Given the description of an element on the screen output the (x, y) to click on. 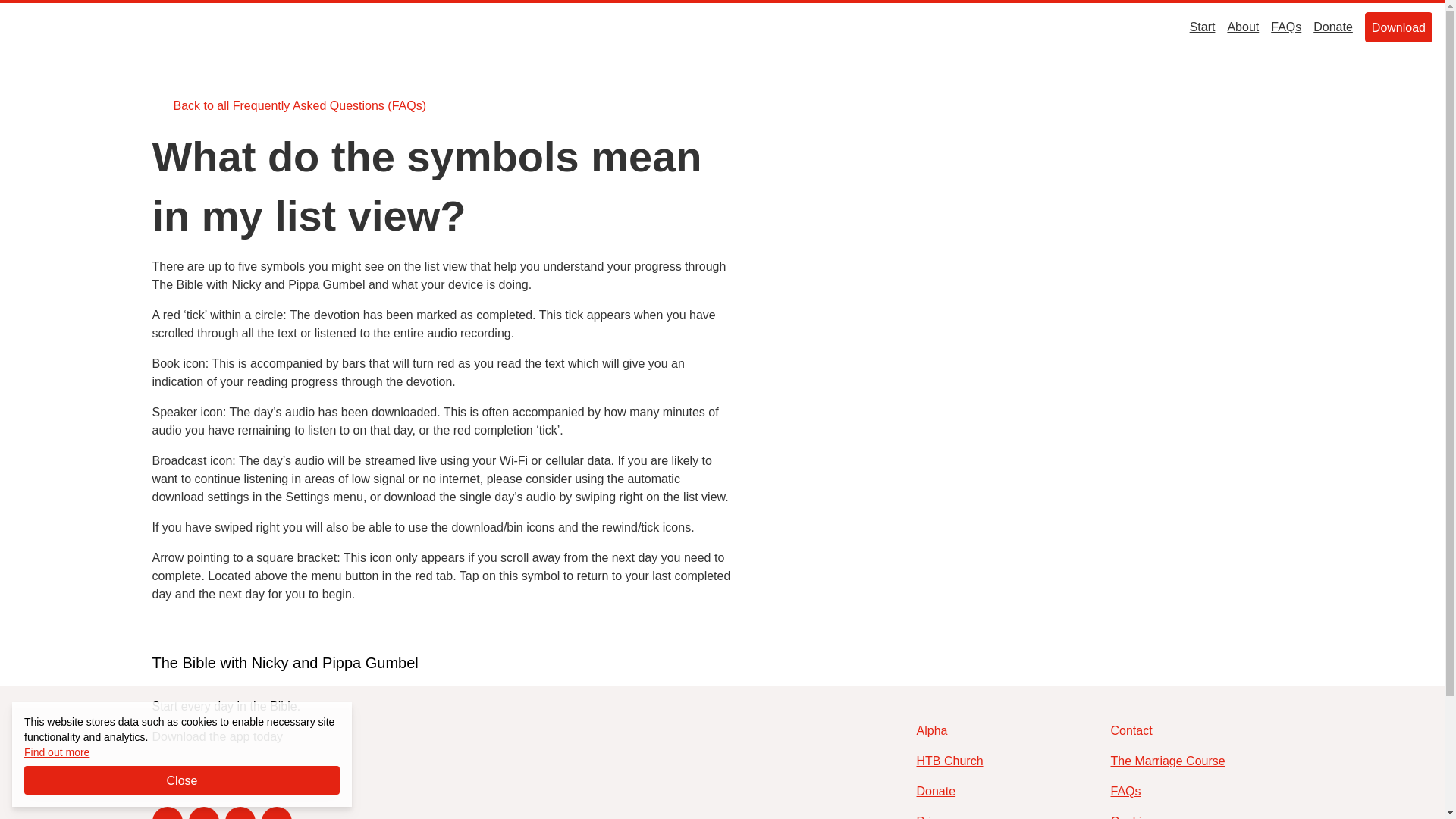
The Marriage Course (1166, 761)
Contact (275, 812)
Facebook (202, 812)
Download (1398, 27)
Privacy (935, 816)
HTB Church (948, 761)
FAQs (1124, 791)
About (1243, 27)
Donate (1332, 27)
Donate (935, 791)
